Given the description of an element on the screen output the (x, y) to click on. 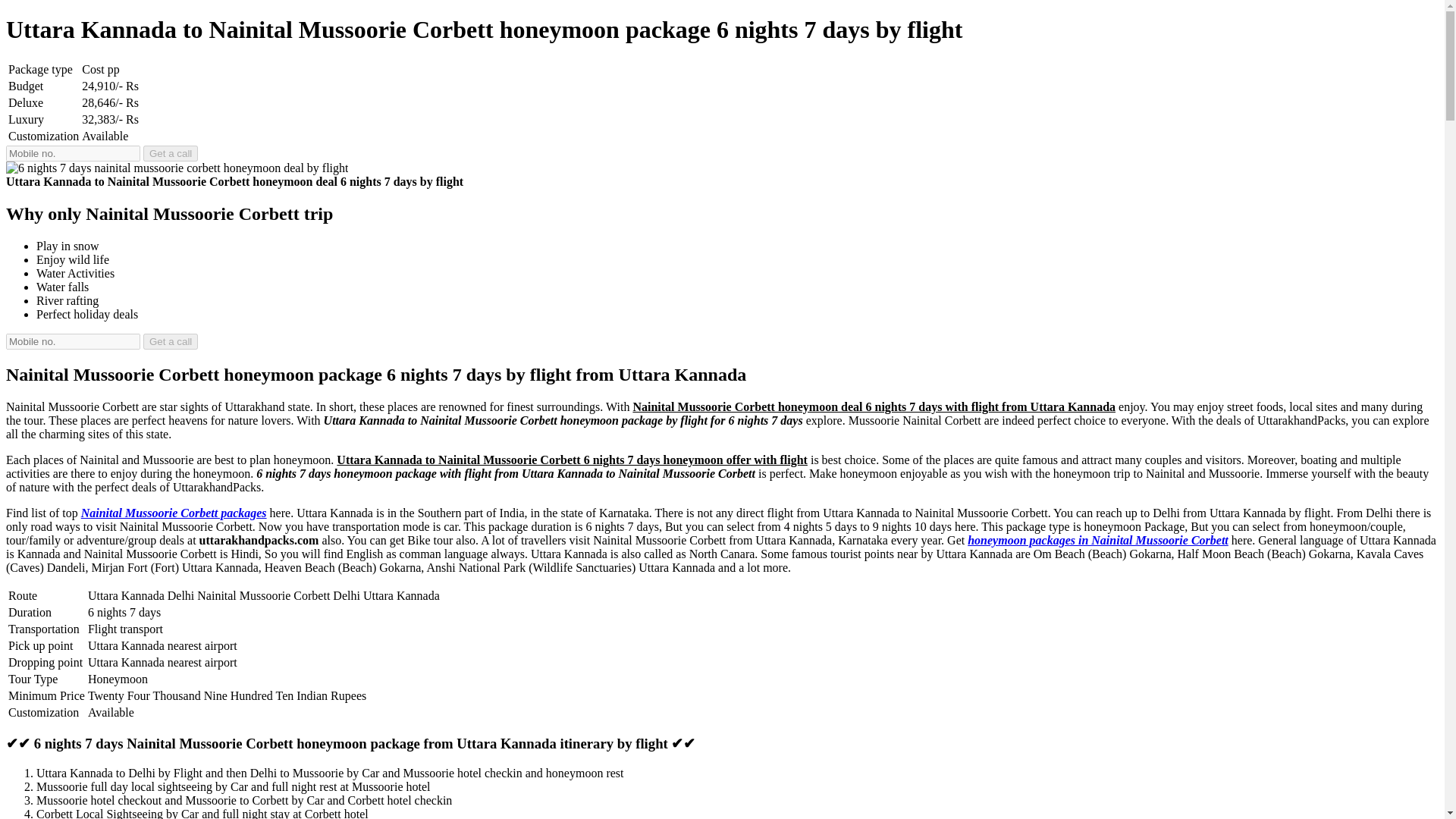
Enter your Mo. no. only digits (72, 341)
Nainital Mussoorie Corbett packages (173, 512)
Get a call (170, 341)
Enter your Mo. no. only digits (72, 153)
Get a call (170, 153)
Get a call (170, 341)
Get a call (170, 153)
honeymoon packages in Nainital Mussoorie Corbett (1098, 540)
